Given the description of an element on the screen output the (x, y) to click on. 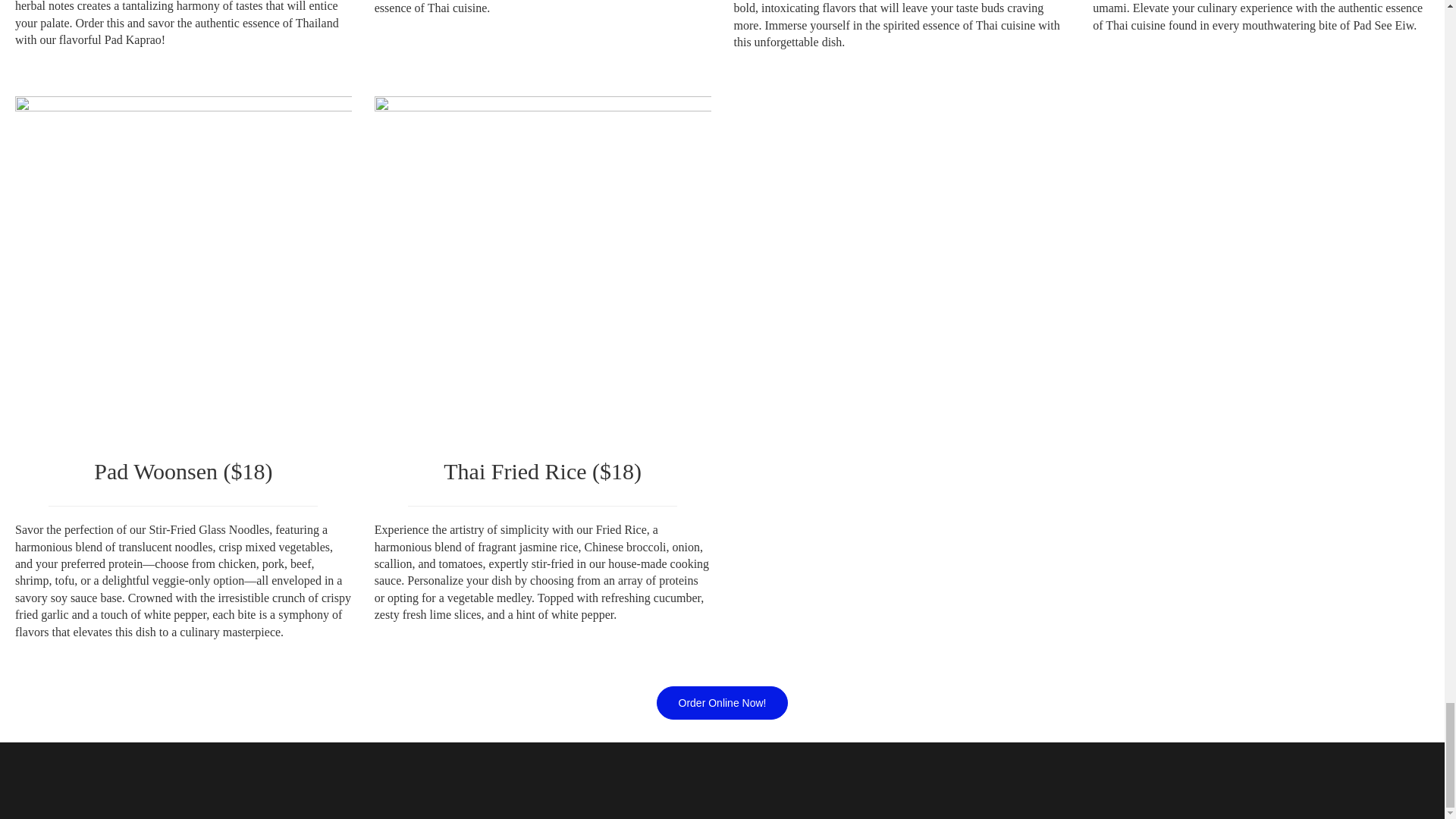
Order Online Now! (722, 702)
